Given the description of an element on the screen output the (x, y) to click on. 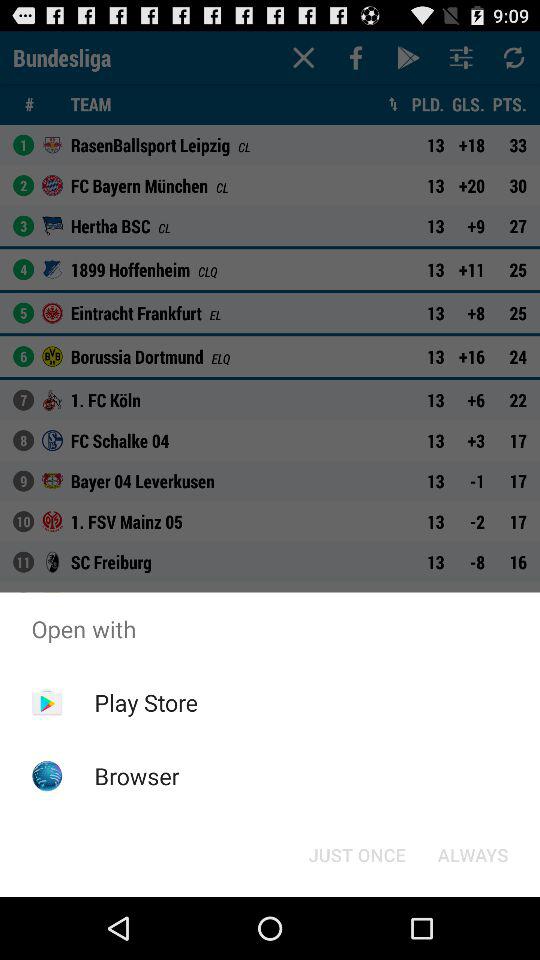
select item below the play store item (136, 775)
